Given the description of an element on the screen output the (x, y) to click on. 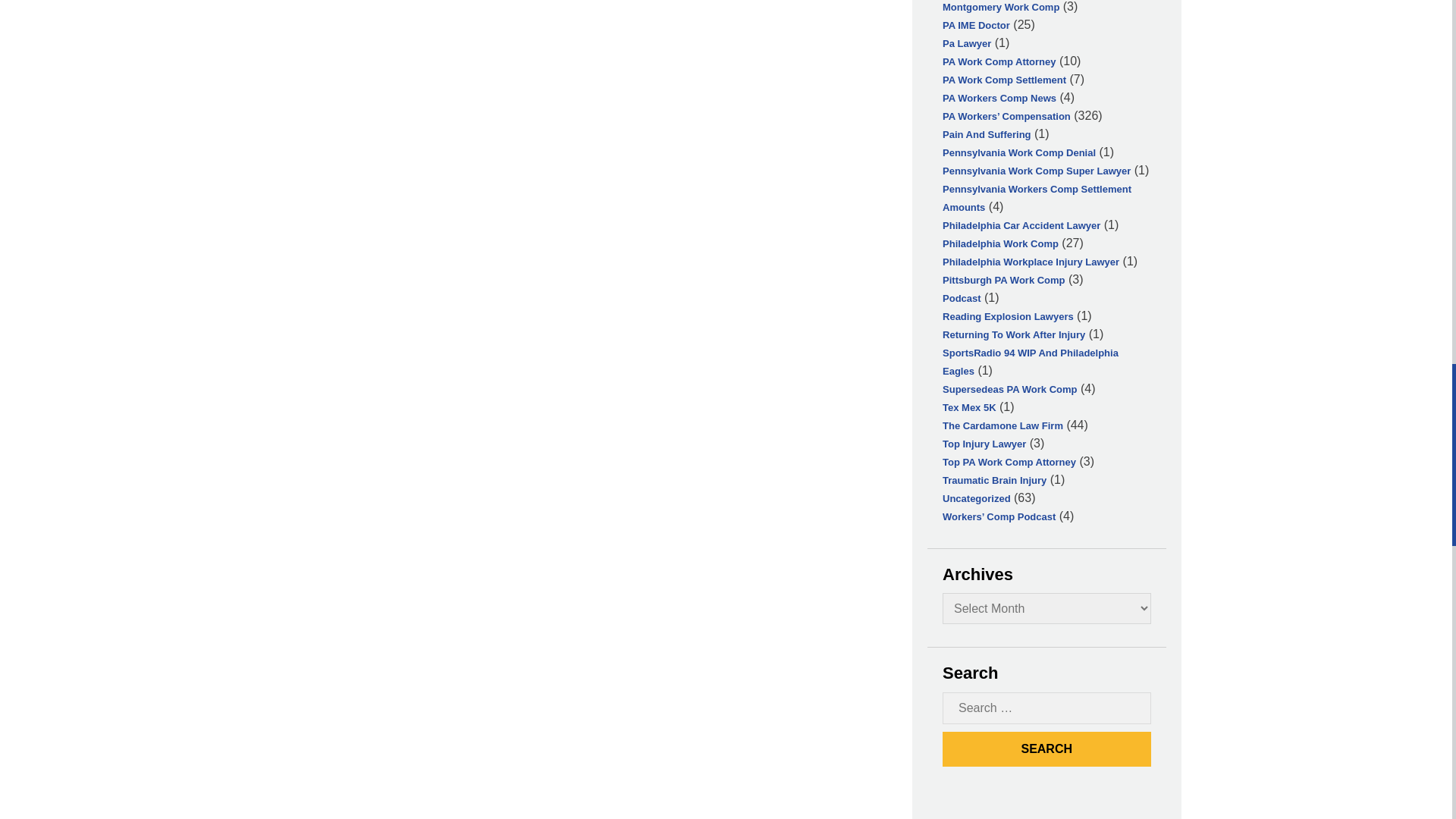
Search (1046, 749)
Search (1046, 749)
